Given the description of an element on the screen output the (x, y) to click on. 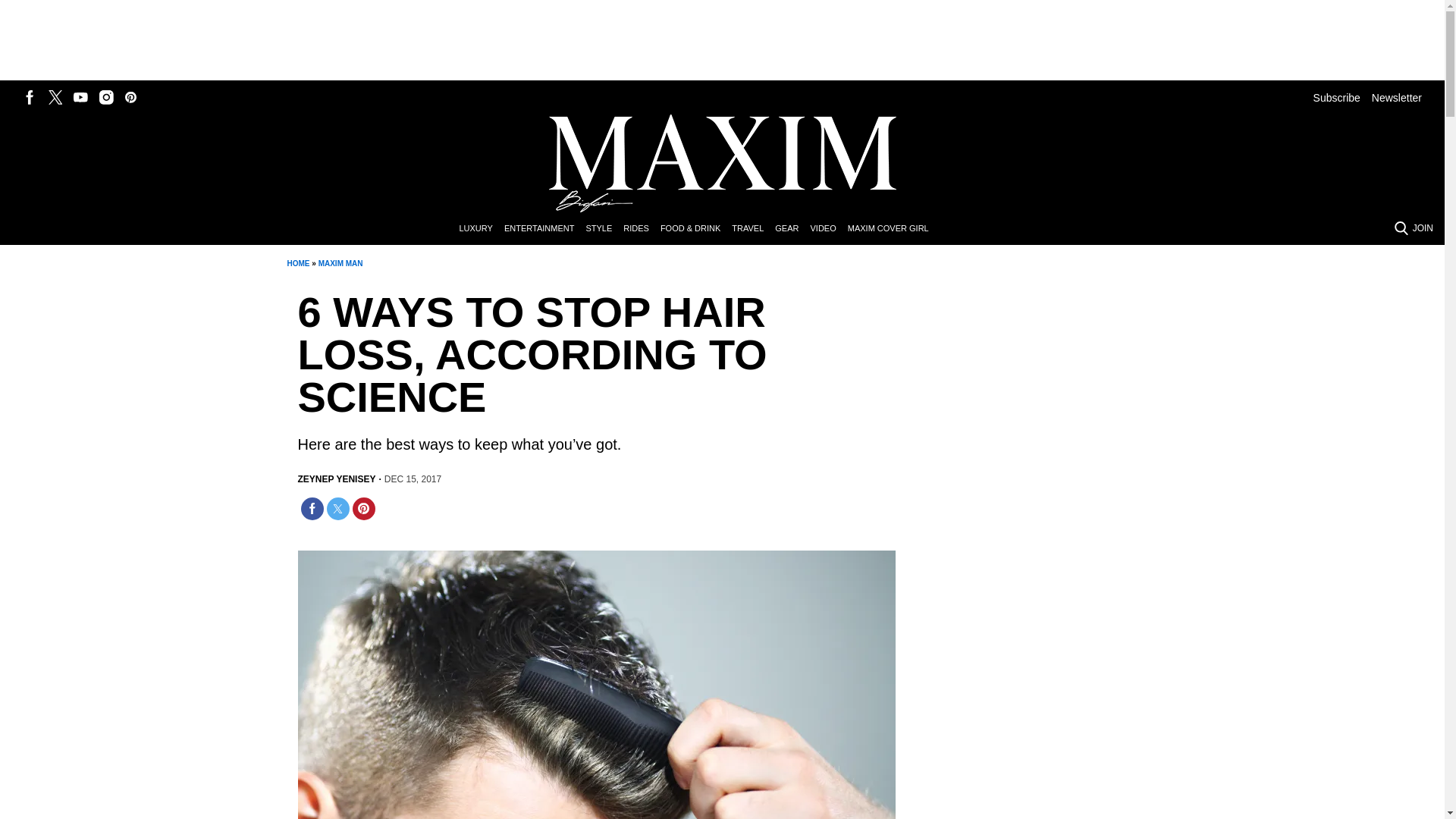
VIDEO (828, 228)
ZEYNEP YENISEY (336, 479)
Follow us on Facebook (30, 97)
Share on Facebook (311, 508)
Follow us on Instagram (106, 97)
MAXIM COVER GIRL (893, 228)
GEAR (791, 228)
TRAVEL (753, 228)
HOME (297, 263)
Subscribe (1336, 97)
STYLE (604, 228)
ENTERTAINMENT (544, 228)
LUXURY (480, 228)
Share on Twitter (337, 508)
JOIN (1422, 228)
